Given the description of an element on the screen output the (x, y) to click on. 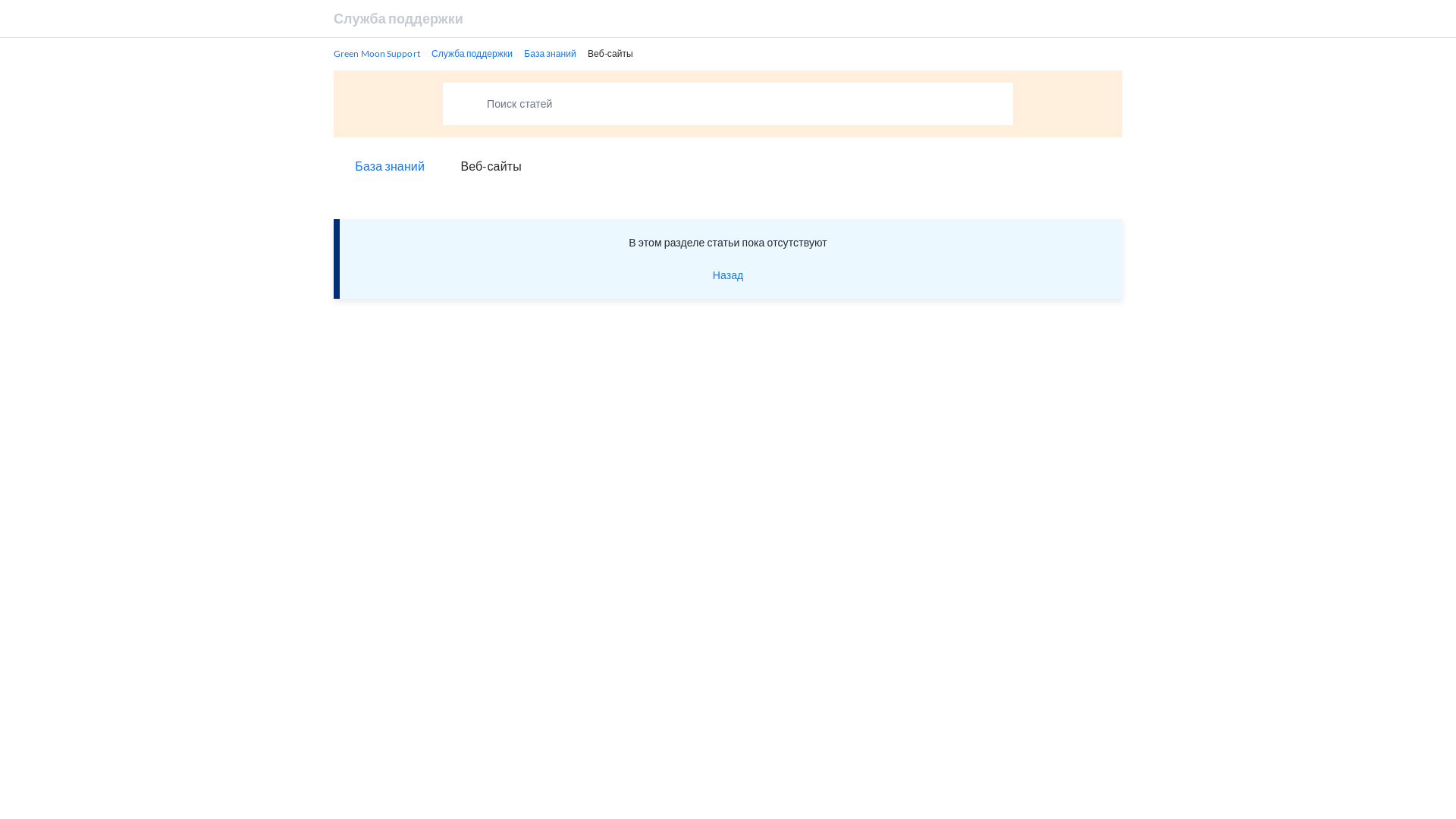
Green Moon Support Element type: text (376, 53)
